Given the description of an element on the screen output the (x, y) to click on. 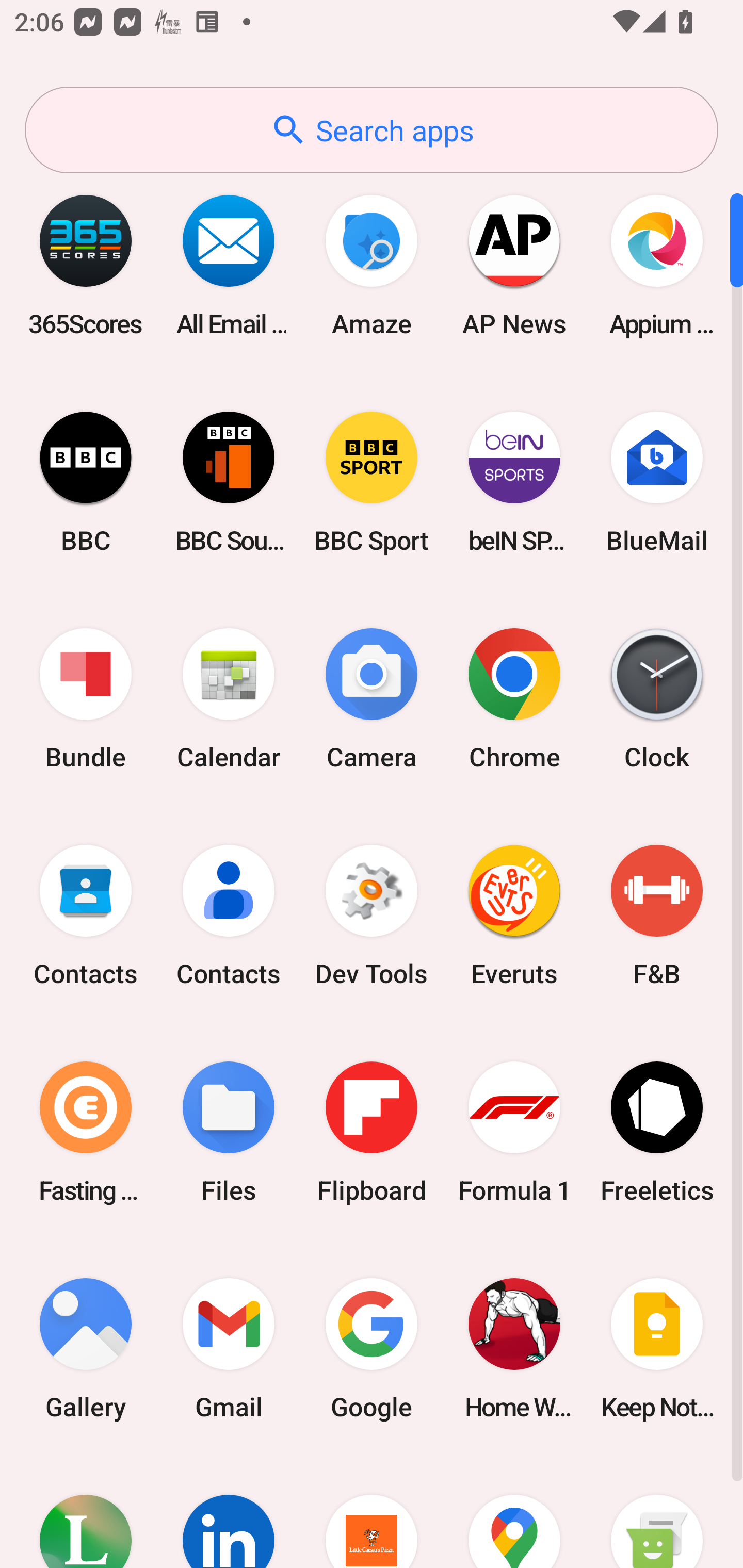
  Search apps (371, 130)
365Scores (85, 264)
All Email Connect (228, 264)
Amaze (371, 264)
AP News (514, 264)
Appium Settings (656, 264)
BBC (85, 482)
BBC Sounds (228, 482)
BBC Sport (371, 482)
beIN SPORTS (514, 482)
BlueMail (656, 482)
Bundle (85, 699)
Calendar (228, 699)
Camera (371, 699)
Chrome (514, 699)
Clock (656, 699)
Contacts (85, 915)
Contacts (228, 915)
Dev Tools (371, 915)
Everuts (514, 915)
F&B (656, 915)
Fasting Coach (85, 1131)
Files (228, 1131)
Flipboard (371, 1131)
Formula 1 (514, 1131)
Freeletics (656, 1131)
Gallery (85, 1348)
Gmail (228, 1348)
Google (371, 1348)
Home Workout (514, 1348)
Keep Notes (656, 1348)
